Given the description of an element on the screen output the (x, y) to click on. 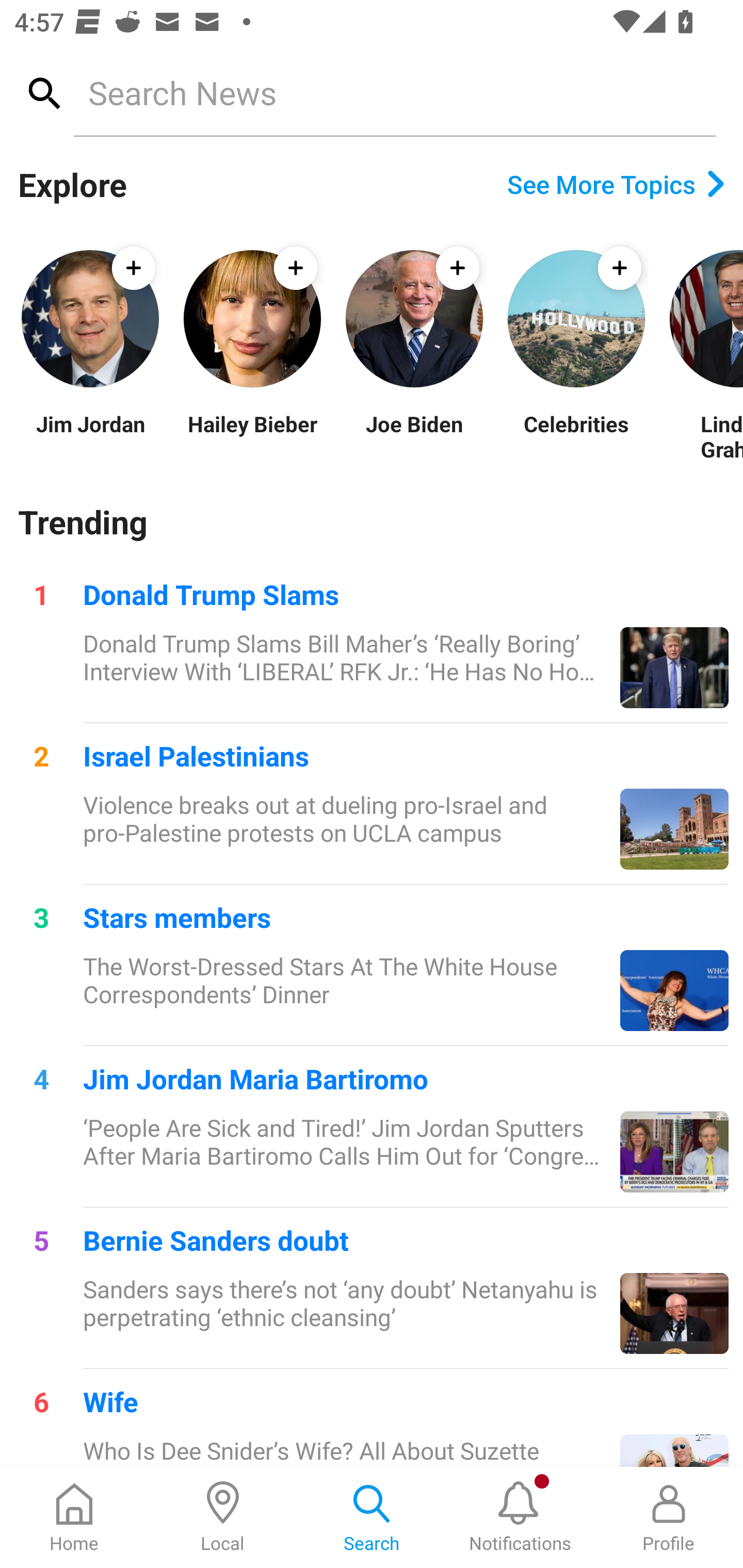
Search News (394, 92)
See More Topics (616, 183)
Jim Jordan (89, 436)
Hailey Bieber (251, 436)
Joe Biden (413, 436)
Celebrities (575, 436)
Home (74, 1517)
Local (222, 1517)
Notifications, New notification Notifications (519, 1517)
Profile (668, 1517)
